Given the description of an element on the screen output the (x, y) to click on. 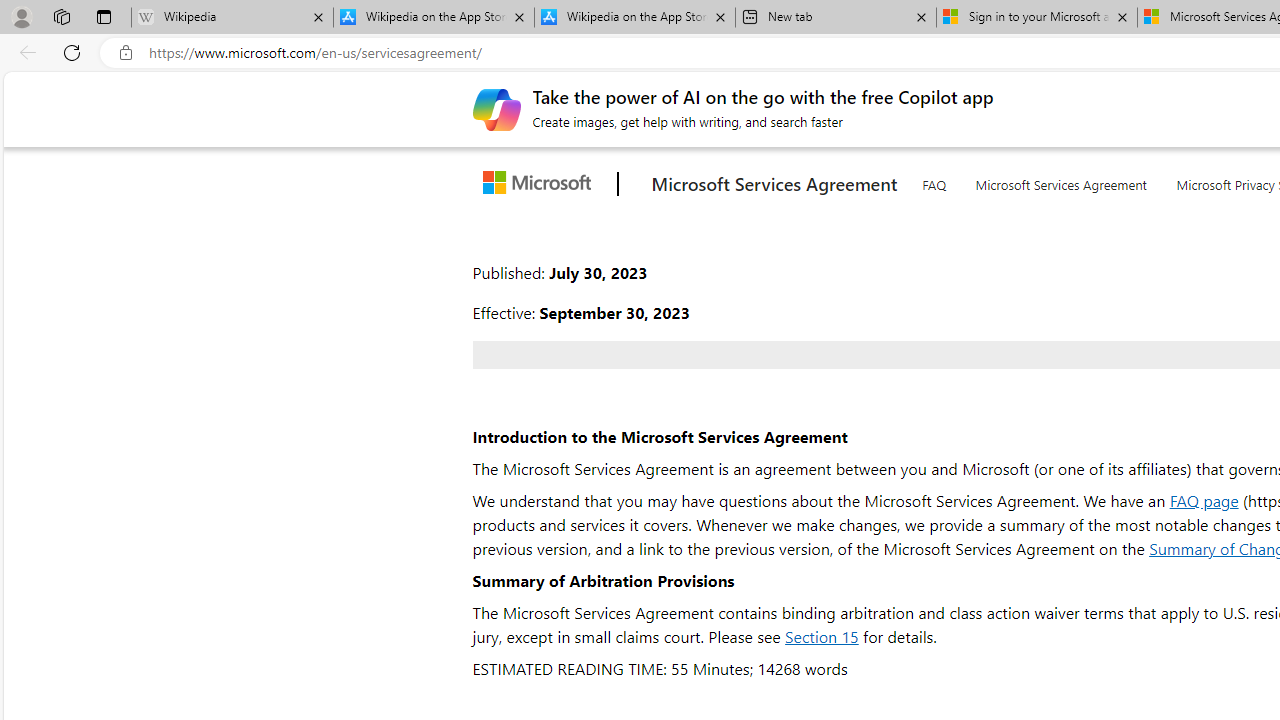
Section 15 (821, 636)
Create images, get help with writing, and search faster (496, 108)
Microsoft (541, 184)
